Given the description of an element on the screen output the (x, y) to click on. 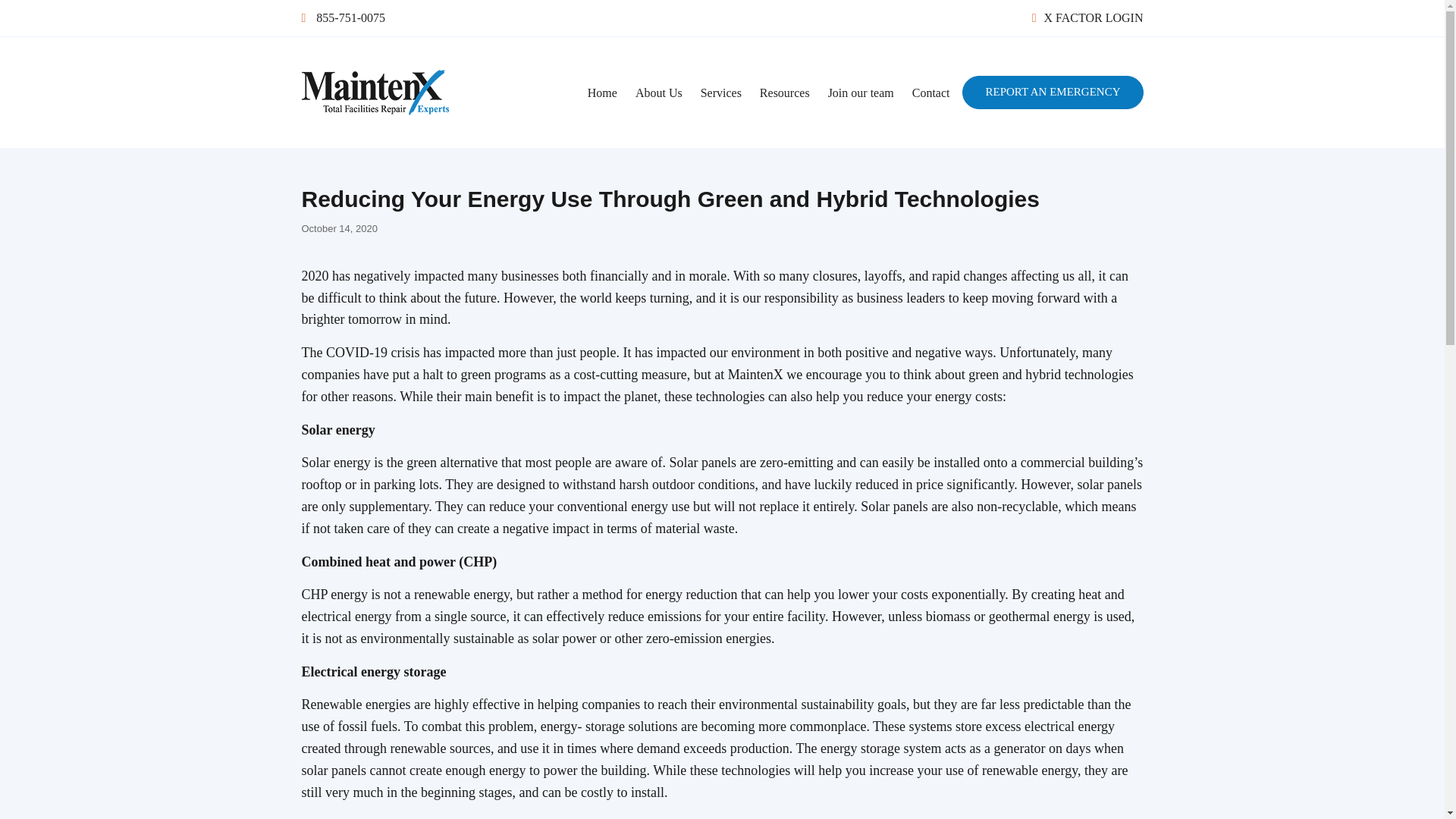
Maintenx (347, 138)
REPORT AN EMERGENCY (1052, 92)
October 14, 2020 (339, 228)
Home (602, 92)
X FACTOR LOGIN (1087, 17)
Contact (930, 92)
Join our team (860, 92)
About Us (658, 92)
855-751-0075 (343, 17)
Services (721, 92)
Resources (784, 92)
